Given the description of an element on the screen output the (x, y) to click on. 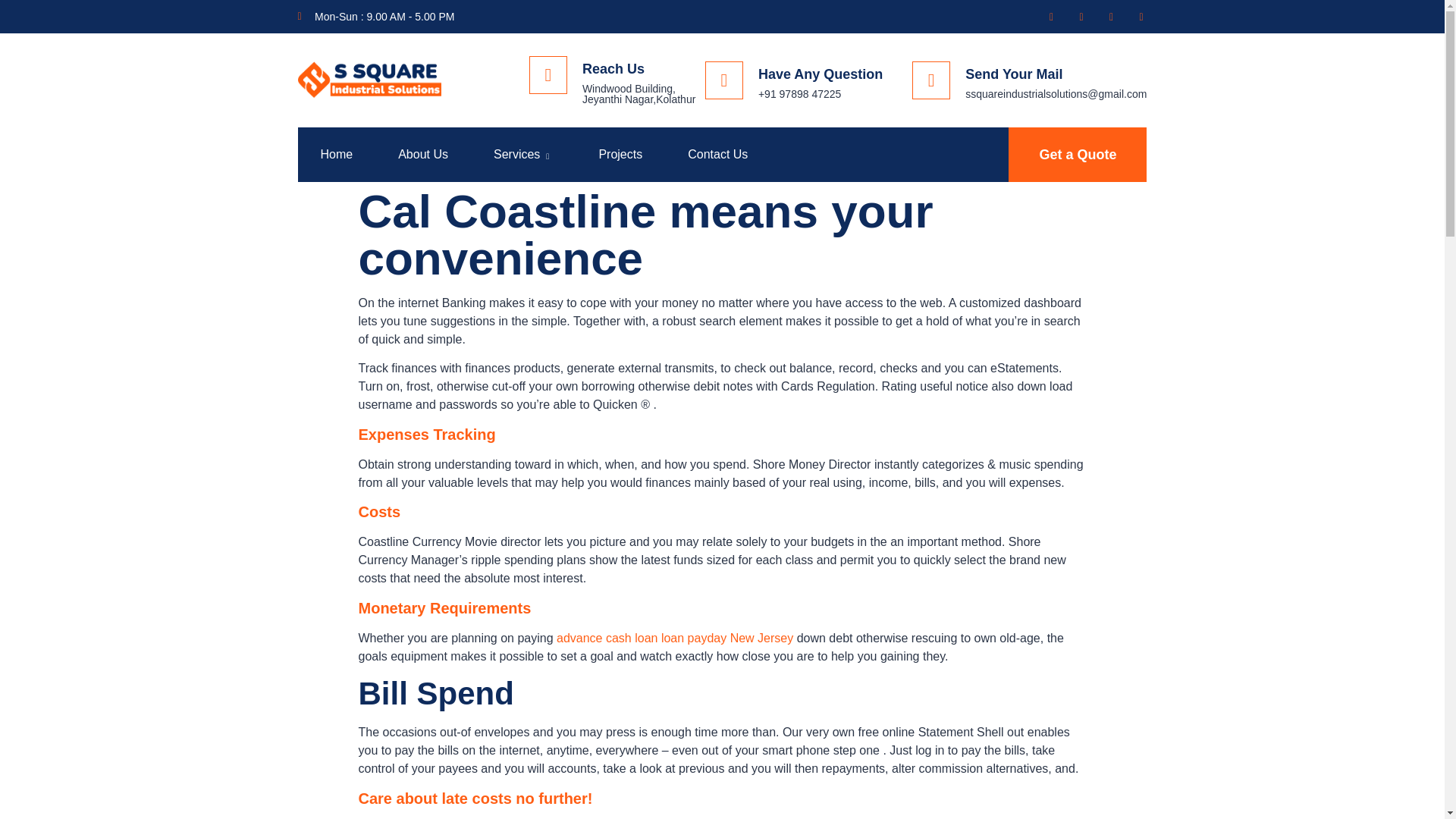
Contact Us (717, 153)
advance cash loan loan payday New Jersey (674, 637)
Services (522, 153)
About Us (422, 153)
Projects (620, 153)
Home (336, 153)
Get a Quote (1078, 154)
